Given the description of an element on the screen output the (x, y) to click on. 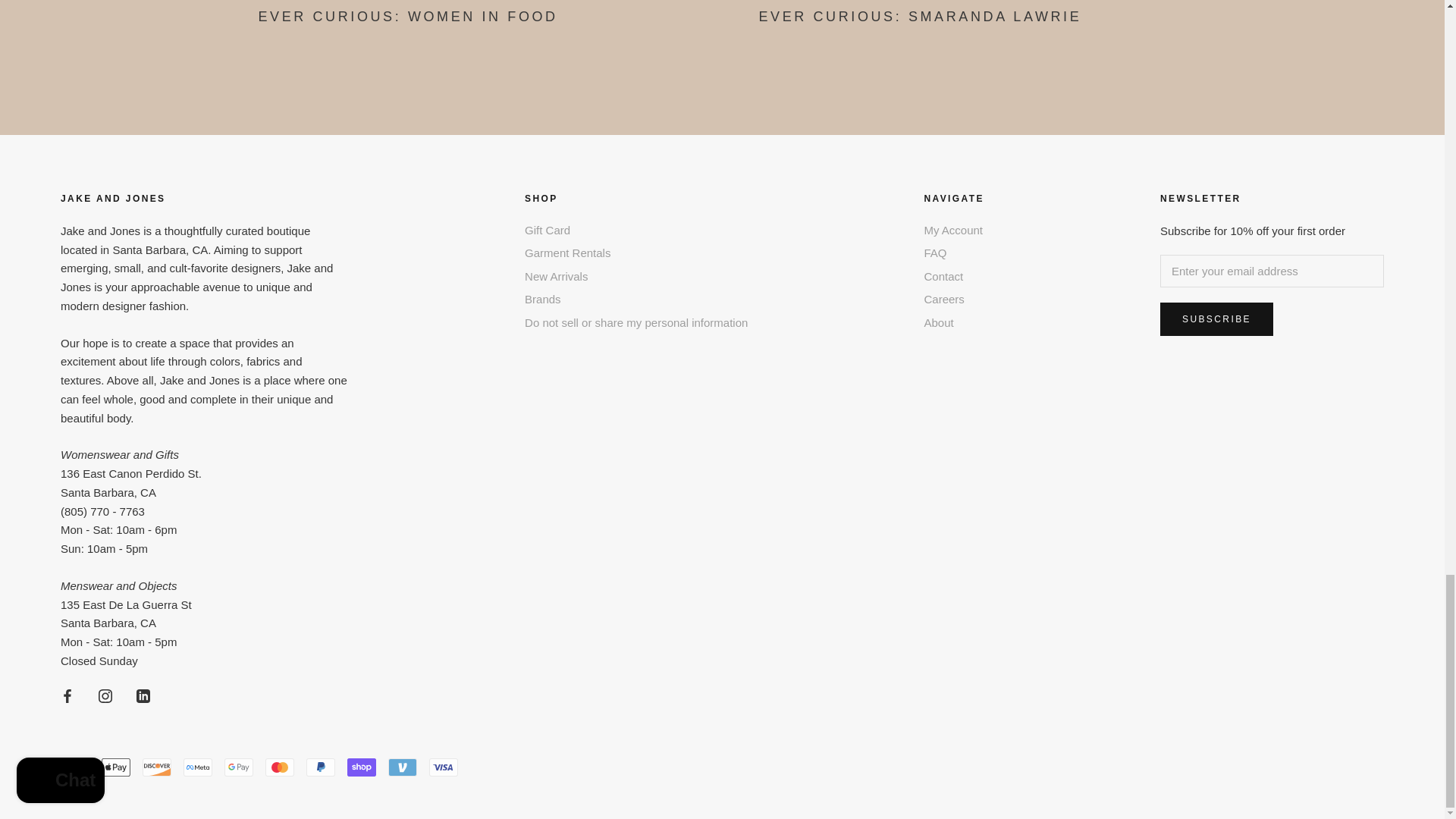
Meta Pay (197, 767)
Venmo (402, 767)
Apple Pay (116, 767)
Mastercard (279, 767)
Visa (443, 767)
Discover (156, 767)
PayPal (319, 767)
American Express (74, 767)
Shop Pay (361, 767)
Google Pay (238, 767)
